Given the description of an element on the screen output the (x, y) to click on. 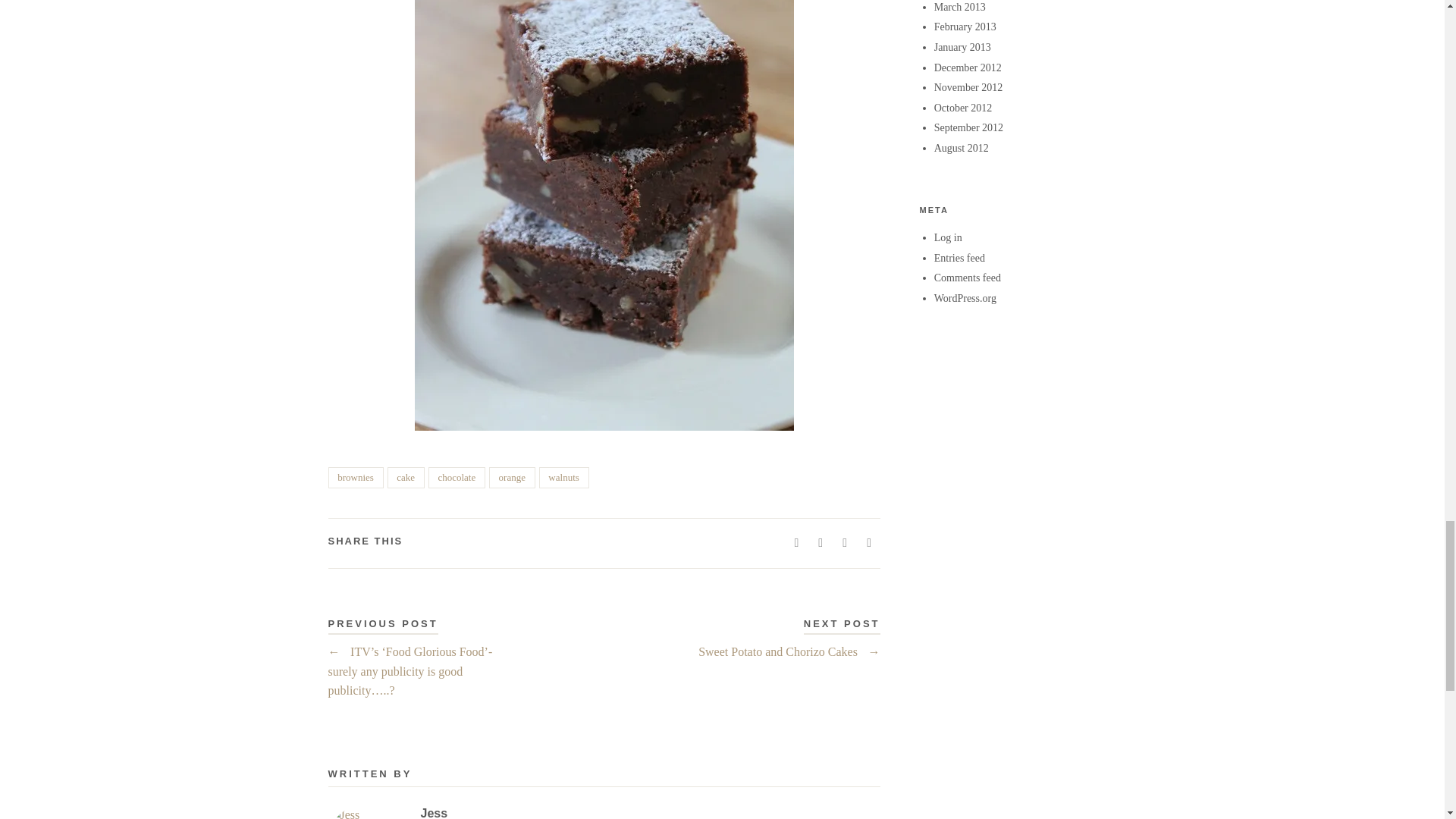
cake (406, 477)
walnuts (563, 477)
Share this post with your followers (820, 542)
orange (512, 477)
chocolate (456, 477)
brownies (354, 477)
Share this post on Facebook (797, 542)
Email this post to a friend (869, 542)
